Given the description of an element on the screen output the (x, y) to click on. 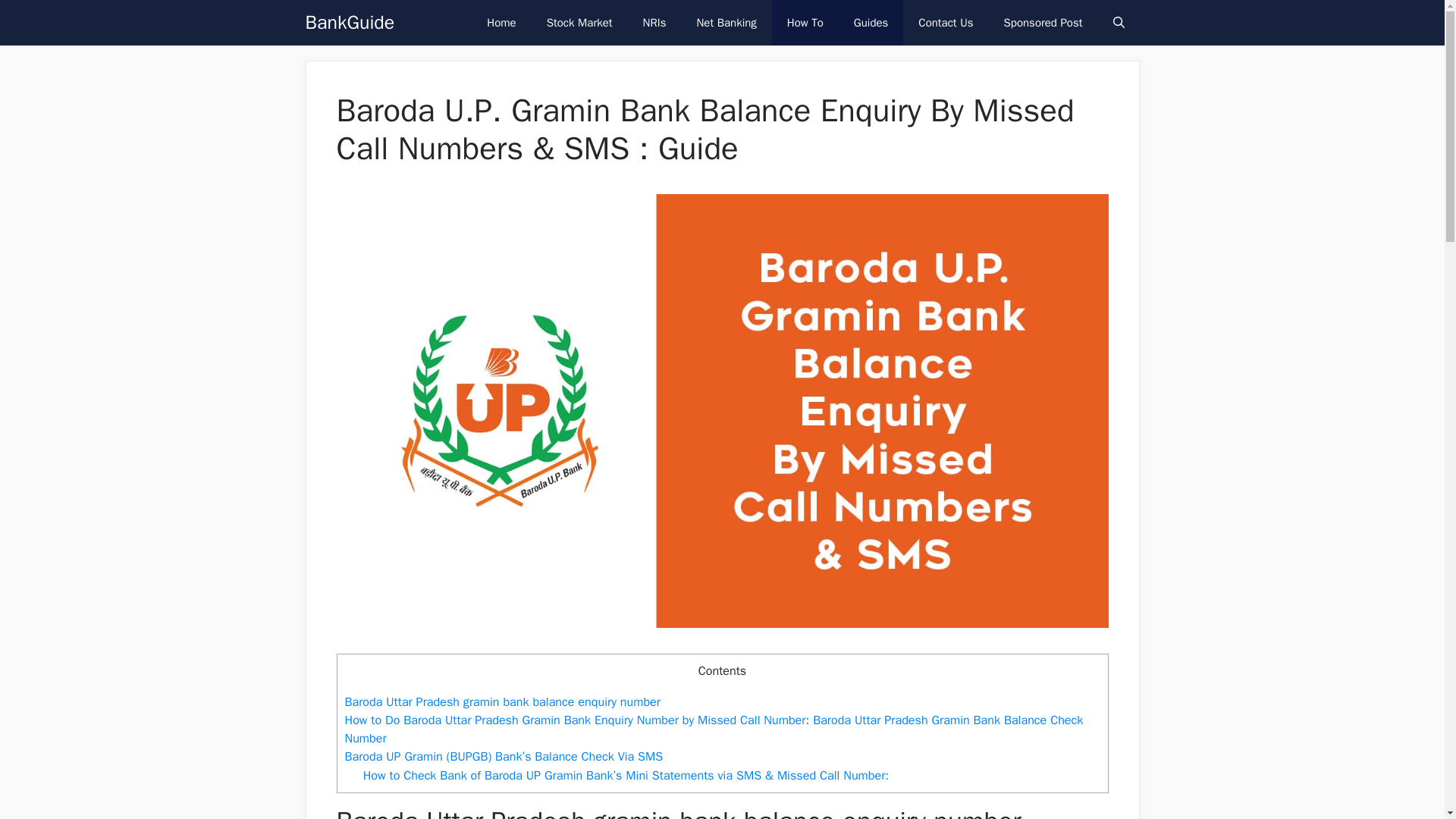
Contact Us (945, 22)
Net Banking (726, 22)
Home (501, 22)
Guides (871, 22)
NRIs (654, 22)
Sponsored Post (1042, 22)
Baroda Uttar Pradesh gramin bank balance enquiry number (501, 701)
BankGuide (349, 22)
Stock Market (579, 22)
